Given the description of an element on the screen output the (x, y) to click on. 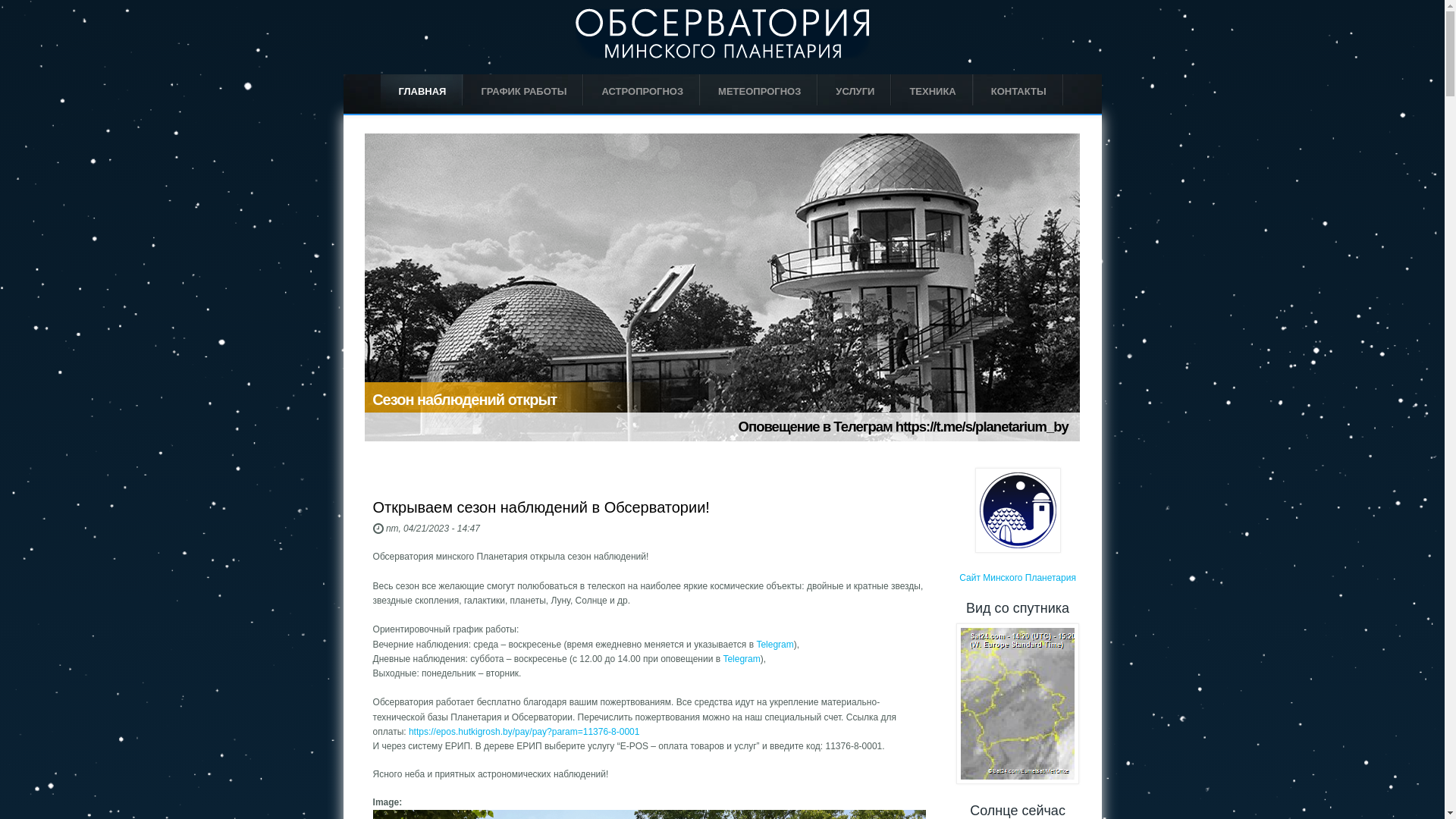
Telegram Element type: text (740, 658)
Telegram Element type: text (774, 644)
https://epos.hutkigrosh.by/pay/pay?param=11376-8-0001 Element type: text (524, 731)
